Given the description of an element on the screen output the (x, y) to click on. 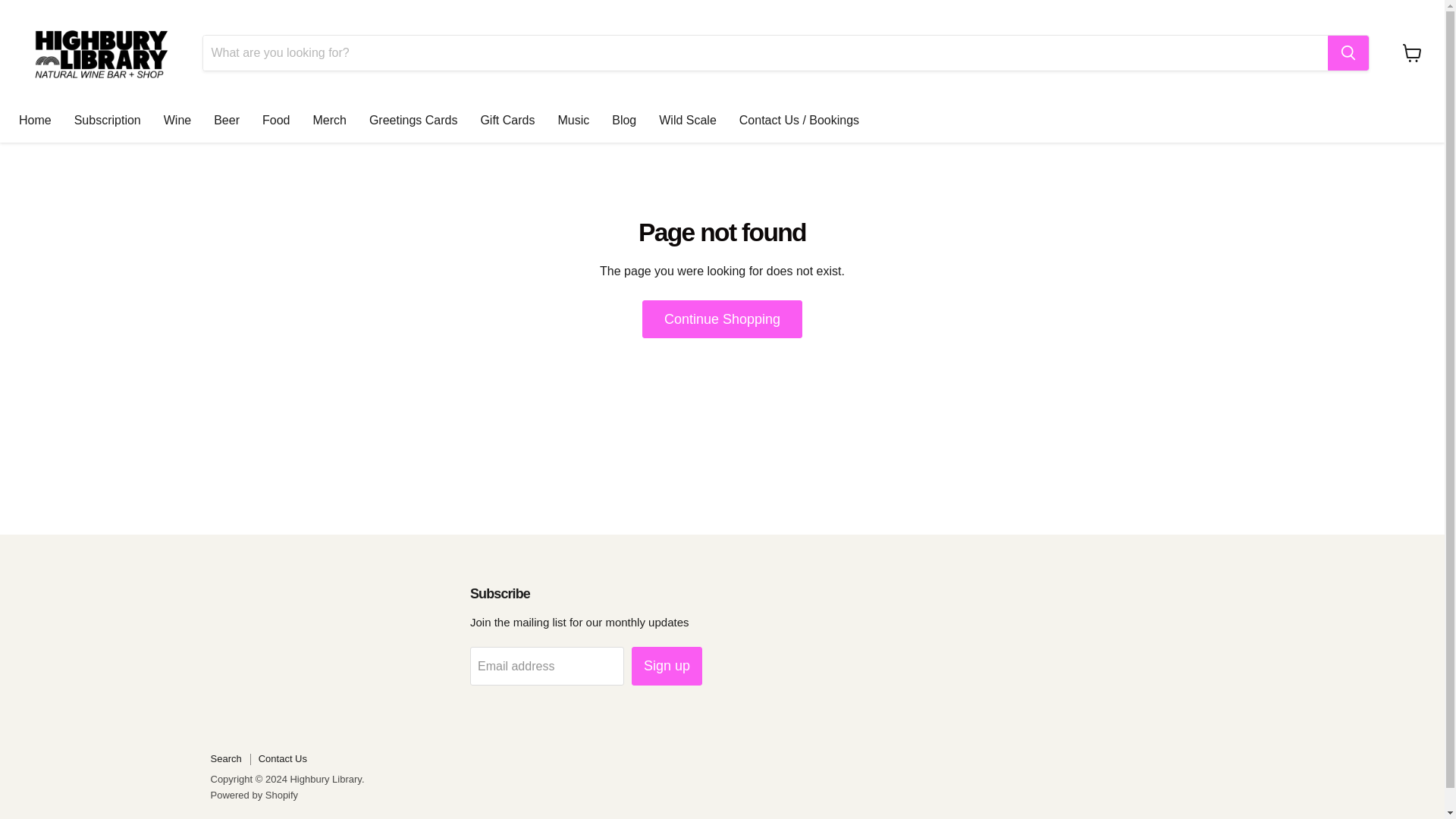
Subscription (107, 120)
Blog (623, 120)
Search (226, 758)
Contact Us (283, 758)
Beer (226, 120)
Music (572, 120)
Powered by Shopify (254, 794)
Food (275, 120)
Home (34, 120)
Continue Shopping (722, 319)
View cart (1411, 52)
Greetings Cards (413, 120)
Wine (177, 120)
Merch (328, 120)
Sign up (666, 666)
